Given the description of an element on the screen output the (x, y) to click on. 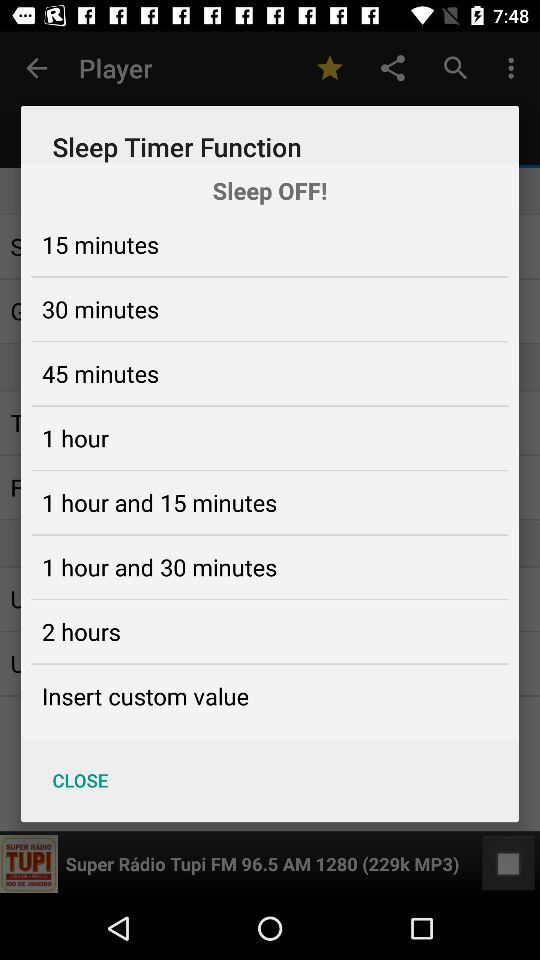
choose the 45 minutes icon (100, 373)
